Given the description of an element on the screen output the (x, y) to click on. 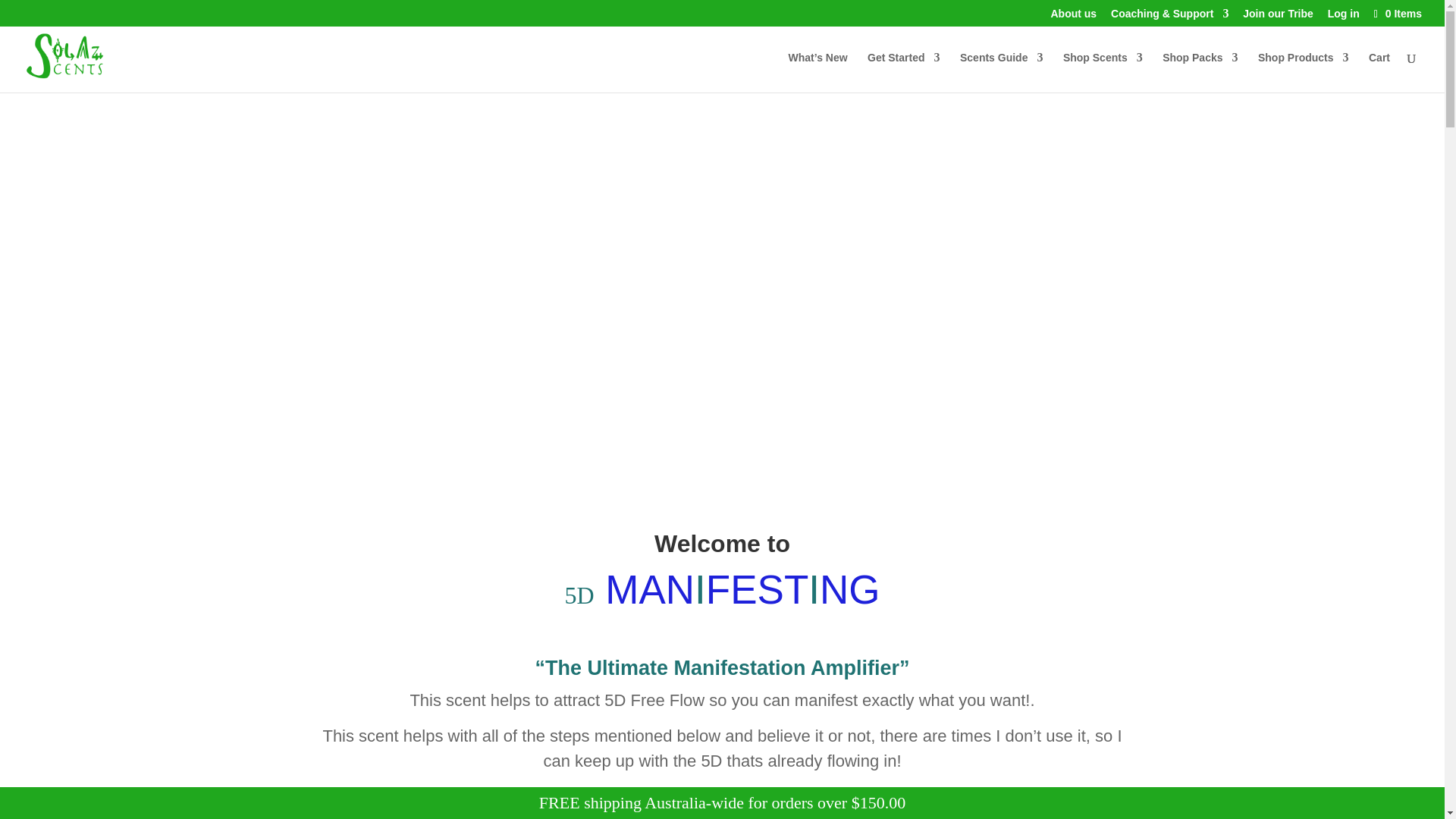
Join our Tribe (1278, 16)
Shop Packs (1199, 72)
Scents Guide (1000, 72)
Shop Products (1303, 72)
Shop Scents (1102, 72)
Get Started (903, 72)
Log in (1343, 16)
About us (1074, 16)
0 Items (1396, 13)
